Given the description of an element on the screen output the (x, y) to click on. 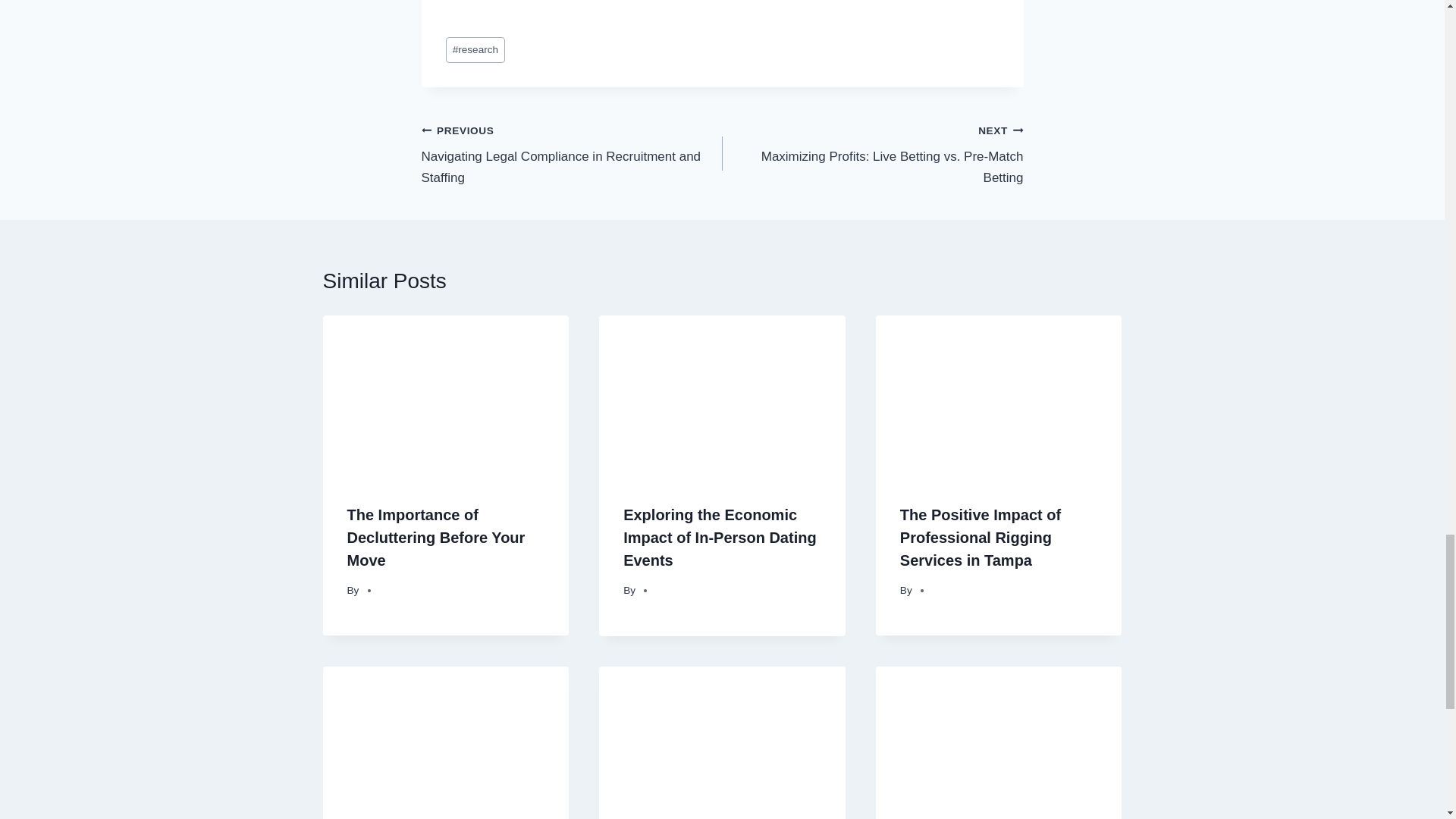
Exploring the Economic Impact of In-Person Dating Events (872, 153)
The Importance of Decluttering Before Your Move (719, 537)
research (436, 537)
